Given the description of an element on the screen output the (x, y) to click on. 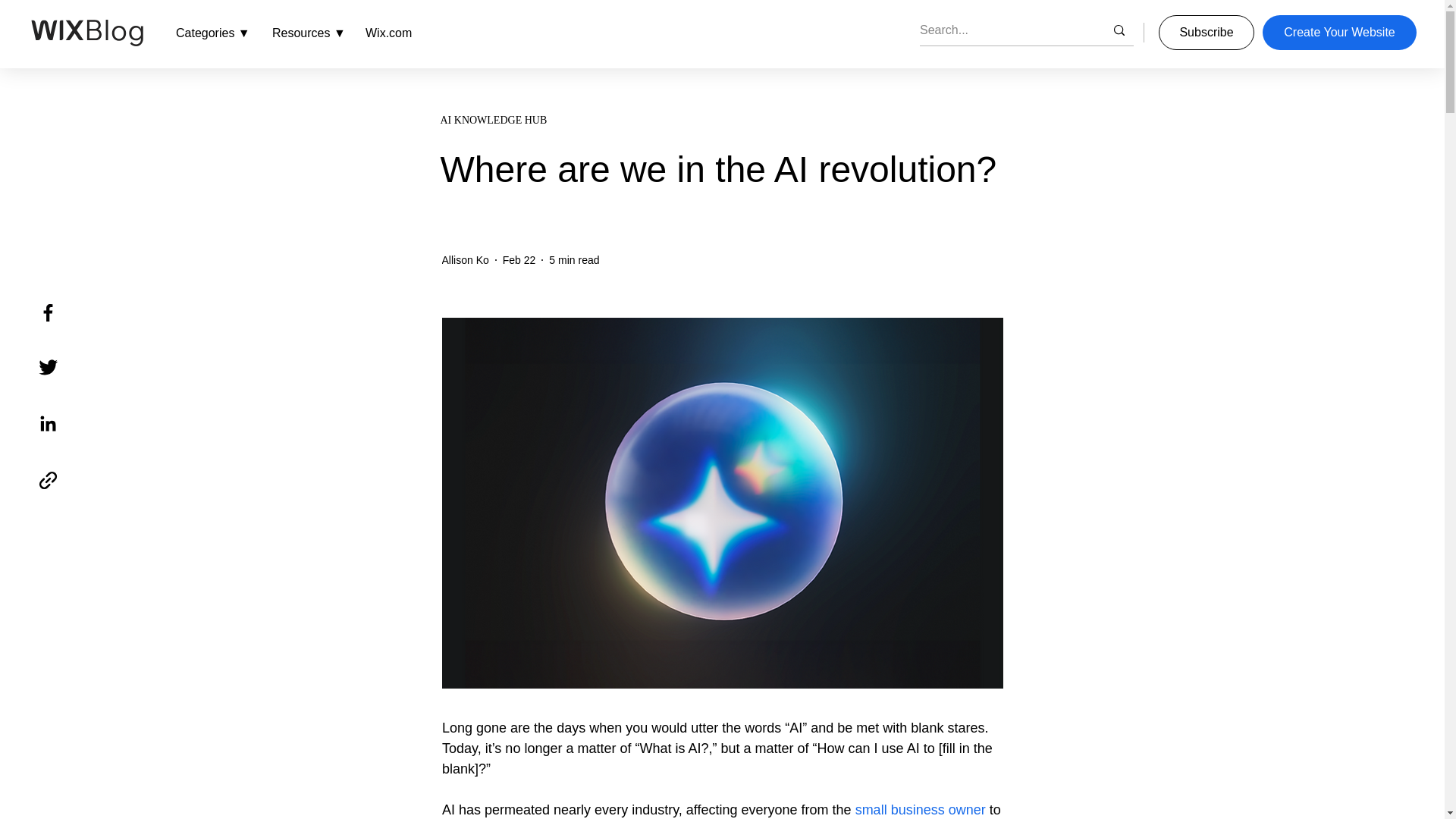
Allison Ko (464, 259)
5 min read (573, 259)
small business owner (919, 809)
Create Your Website (1339, 32)
Feb 22 (518, 259)
Subscribe (1205, 32)
AI KNOWLEDGE HUB (720, 119)
Allison Ko (464, 259)
Wix.com (388, 33)
